Given the description of an element on the screen output the (x, y) to click on. 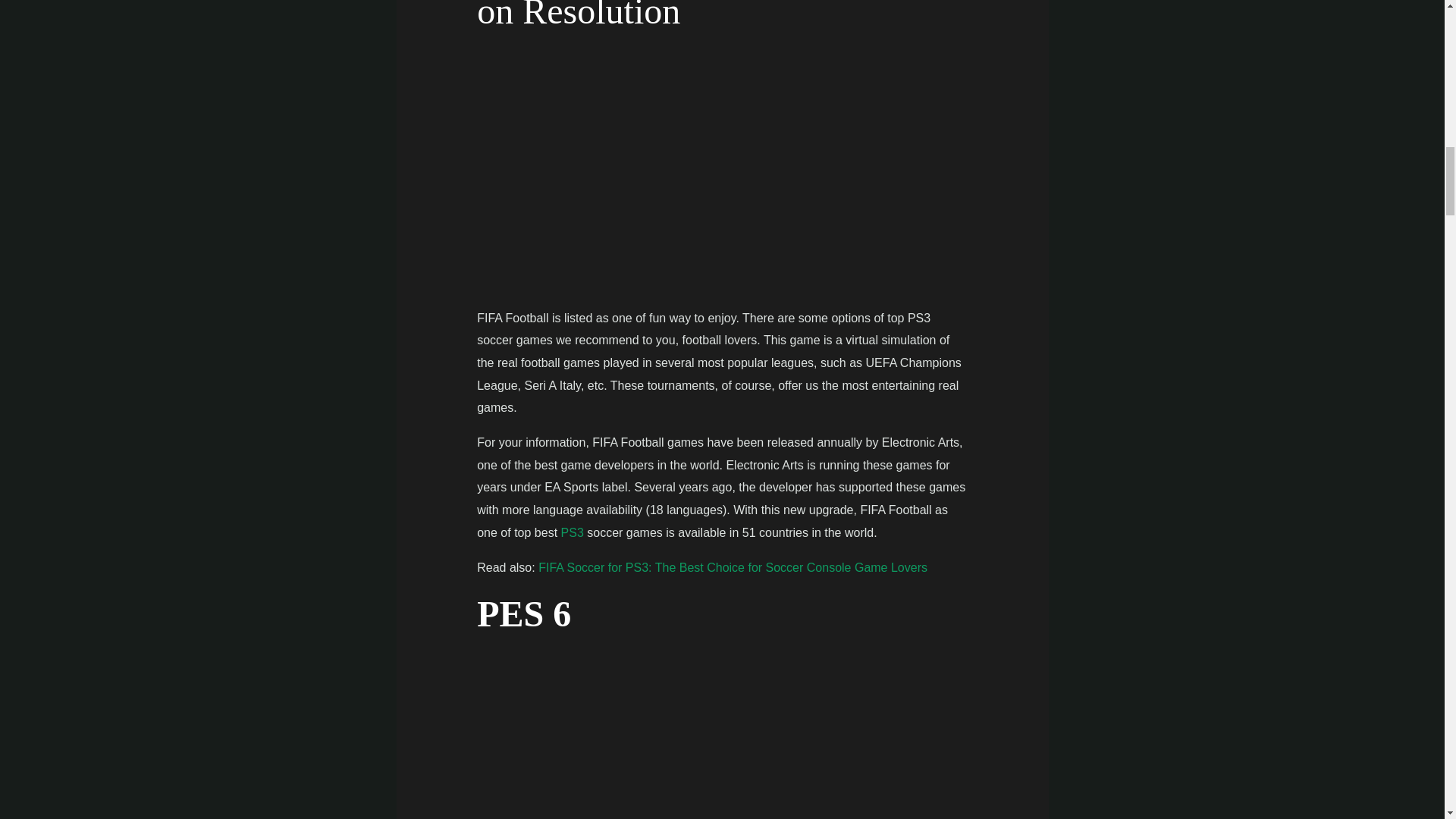
PS3 (571, 532)
